Given the description of an element on the screen output the (x, y) to click on. 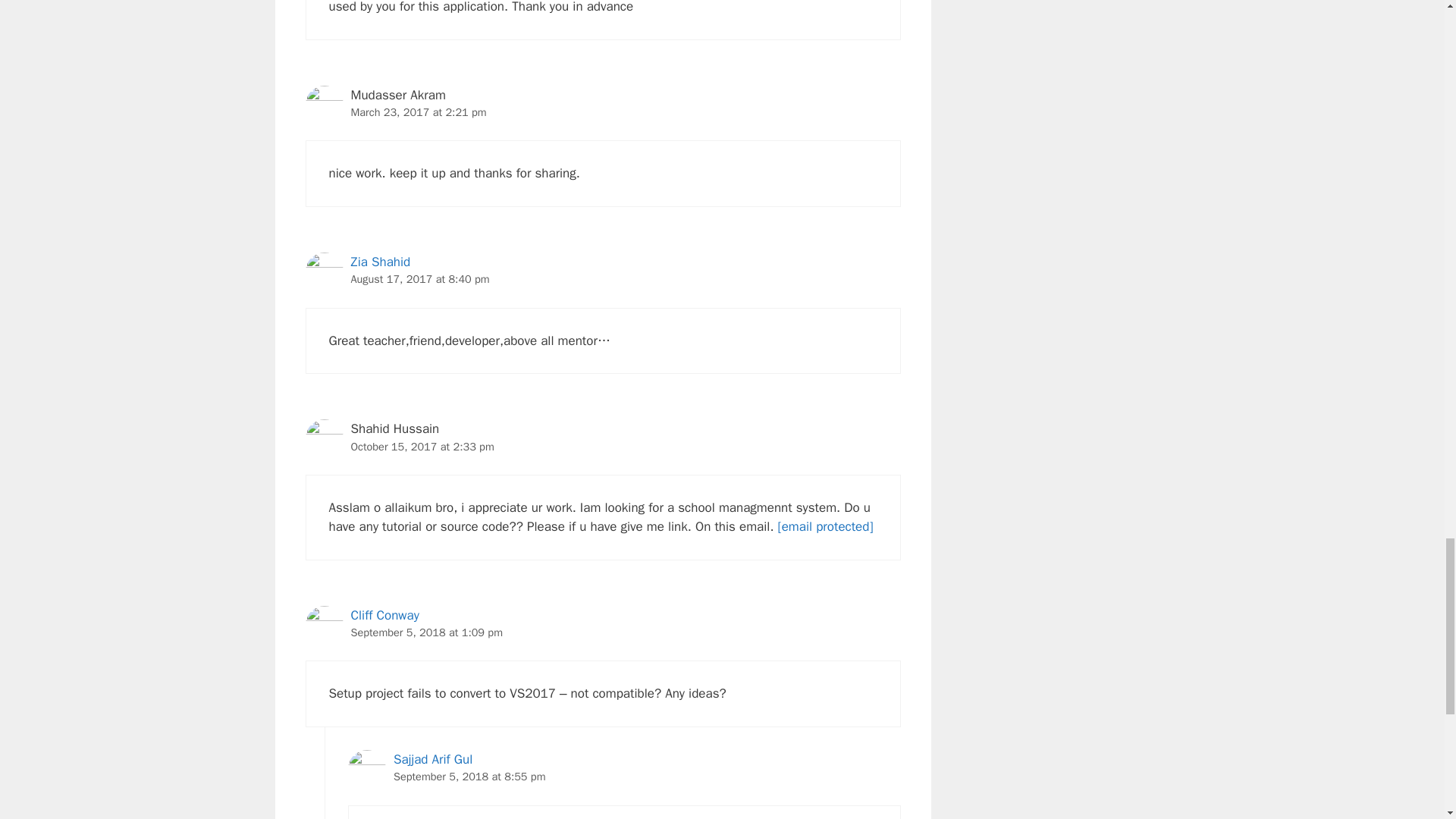
Zia Shahid (380, 261)
March 23, 2017 at 2:21 pm (418, 111)
August 17, 2017 at 8:40 pm (419, 278)
October 15, 2017 at 2:33 pm (421, 446)
